Given the description of an element on the screen output the (x, y) to click on. 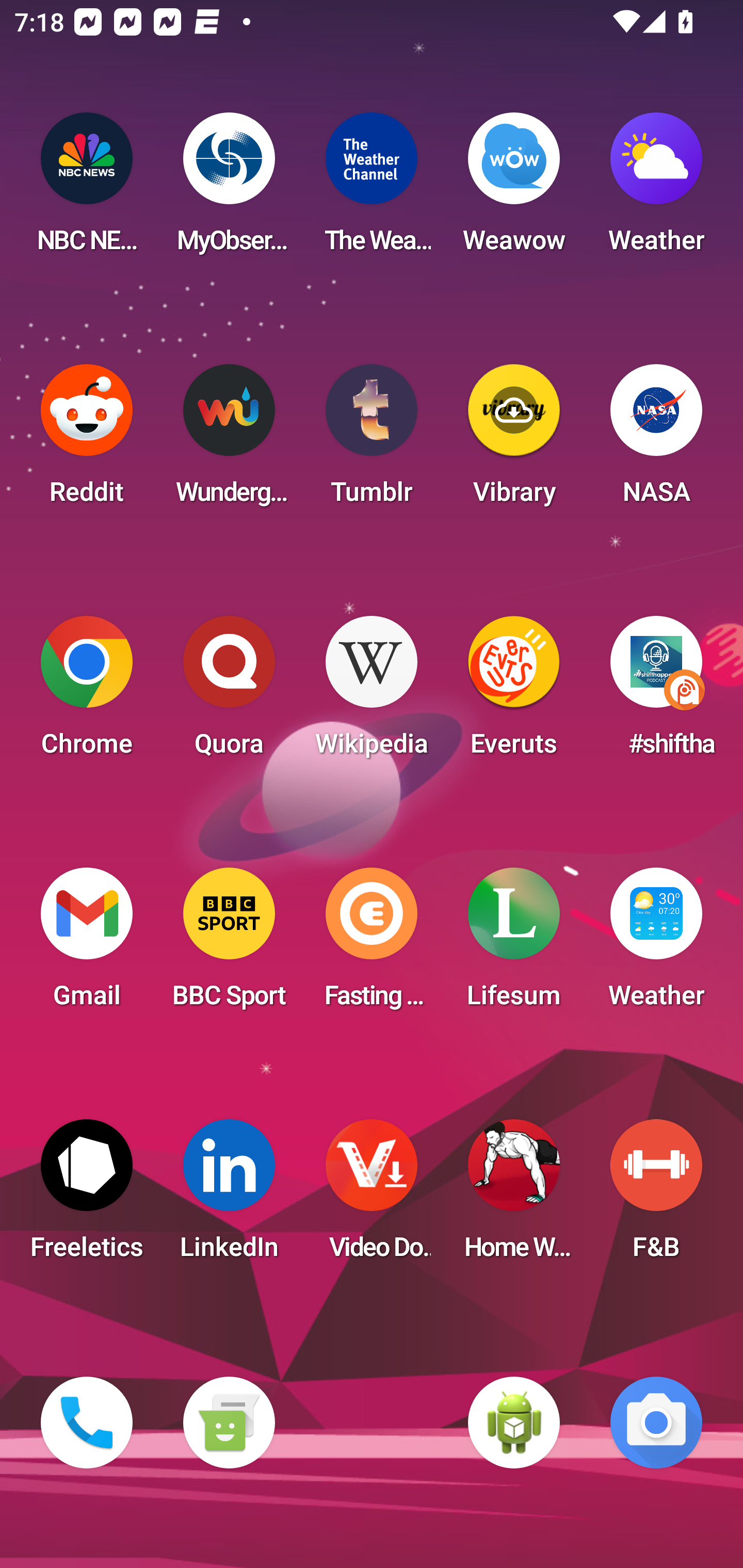
NBC NEWS (86, 188)
MyObservatory (228, 188)
The Weather Channel (371, 188)
Weawow (513, 188)
Weather (656, 188)
Reddit (86, 440)
Wunderground (228, 440)
Tumblr (371, 440)
Vibrary (513, 440)
NASA (656, 440)
Chrome (86, 692)
Quora (228, 692)
Wikipedia (371, 692)
Everuts (513, 692)
#shifthappens in the Digital Workplace Podcast (656, 692)
Gmail (86, 943)
BBC Sport (228, 943)
Fasting Coach (371, 943)
Lifesum (513, 943)
Weather (656, 943)
Freeletics (86, 1195)
LinkedIn (228, 1195)
Video Downloader & Ace Player (371, 1195)
Home Workout (513, 1195)
F&B (656, 1195)
Phone (86, 1422)
Messaging (228, 1422)
WebView Browser Tester (513, 1422)
Camera (656, 1422)
